Given the description of an element on the screen output the (x, y) to click on. 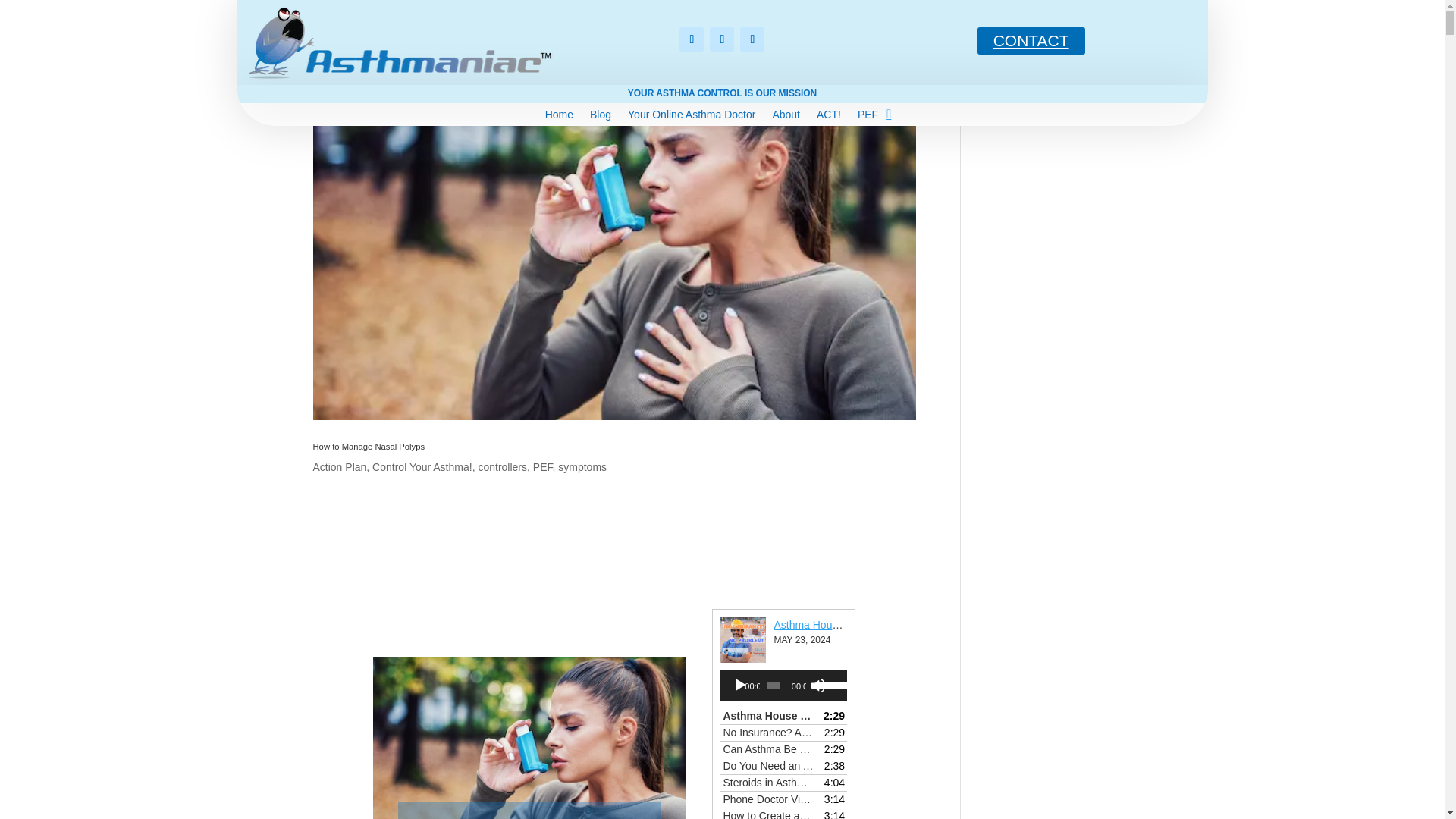
PEF (867, 117)
No Insurance? Asthmaniac Will Help You! (767, 732)
Mute (817, 685)
Do You Need an Affordable Doctor? (767, 765)
logo-427 (397, 80)
Follow on Instagram (751, 39)
Follow on X (721, 39)
Blog (600, 117)
symptoms (582, 467)
How to Manage Nasal Polyps (369, 446)
ACT! (828, 117)
CONTACT (1030, 40)
About (785, 117)
Play (740, 685)
Follow on Facebook (691, 39)
